Given the description of an element on the screen output the (x, y) to click on. 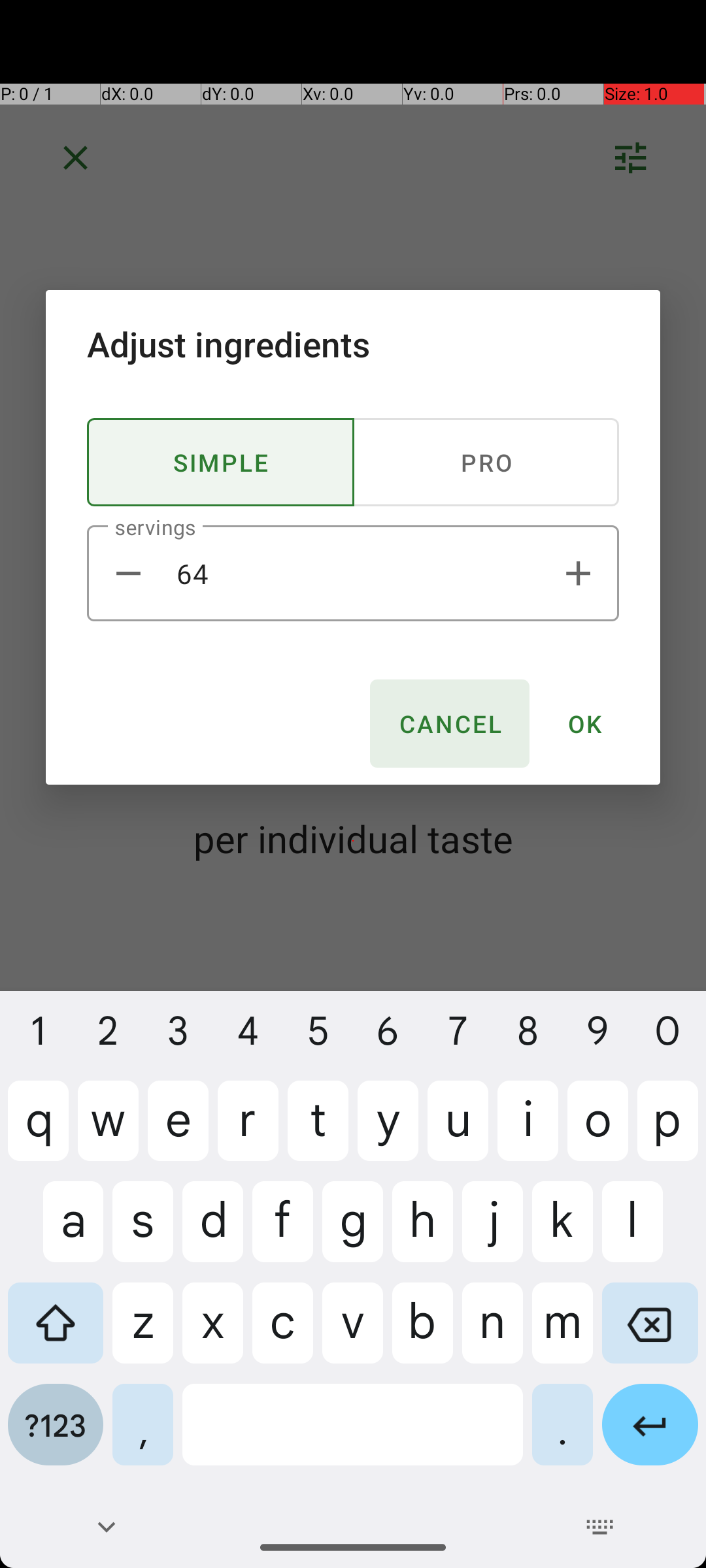
64 Element type: android.widget.EditText (352, 573)
